Given the description of an element on the screen output the (x, y) to click on. 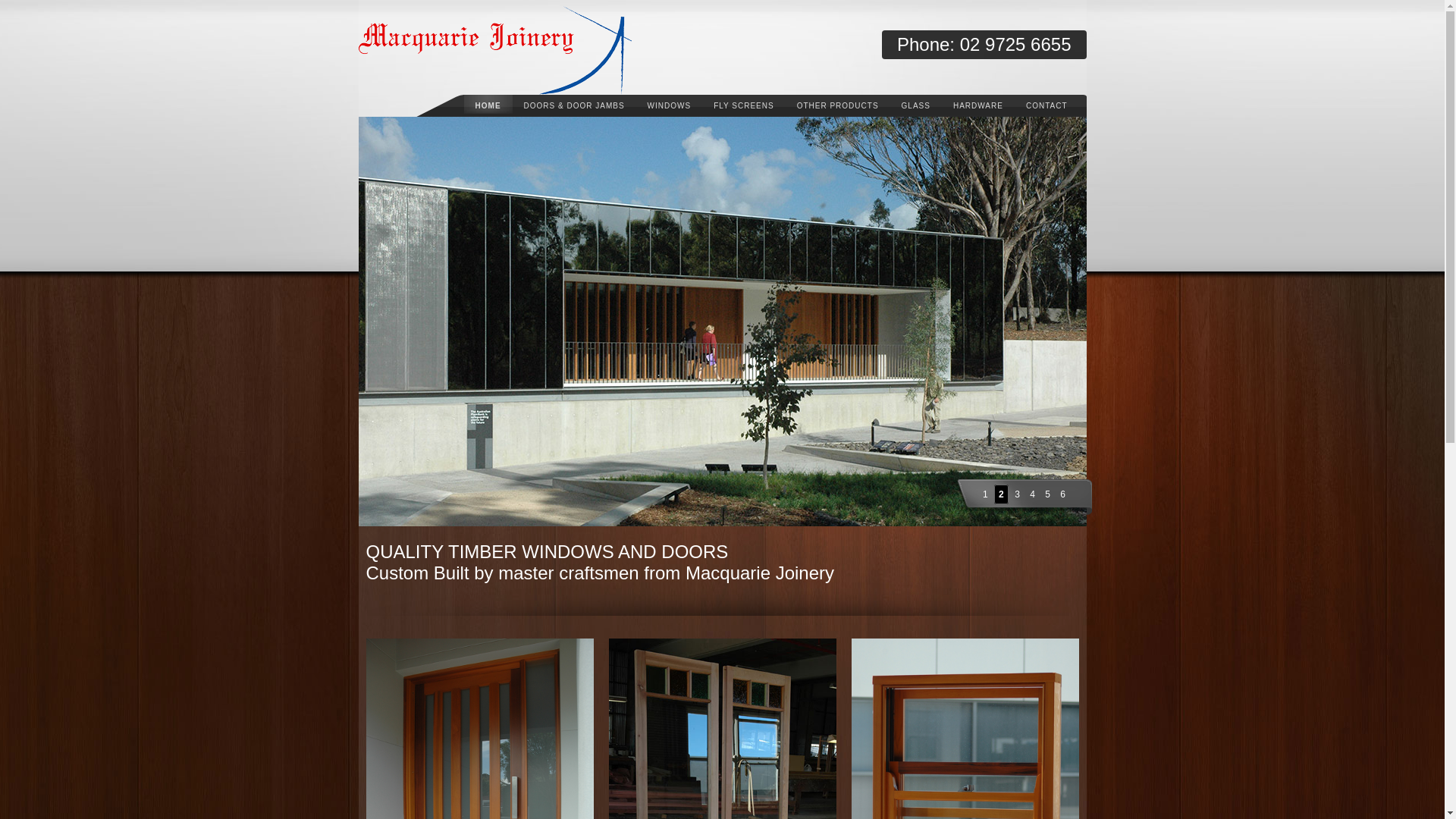
HARDWARE Element type: text (977, 102)
3 Element type: text (1016, 494)
WINDOWS Element type: text (669, 102)
5 Element type: text (1047, 494)
FLY SCREENS Element type: text (743, 102)
OTHER PRODUCTS Element type: text (837, 102)
6 Element type: text (1062, 494)
HOME Element type: text (488, 102)
DOORS & DOOR JAMBS Element type: text (574, 102)
2 Element type: text (1001, 494)
CONTACT Element type: text (1046, 102)
1 Element type: text (985, 494)
GLASS Element type: text (915, 102)
4 Element type: text (1032, 494)
